Given the description of an element on the screen output the (x, y) to click on. 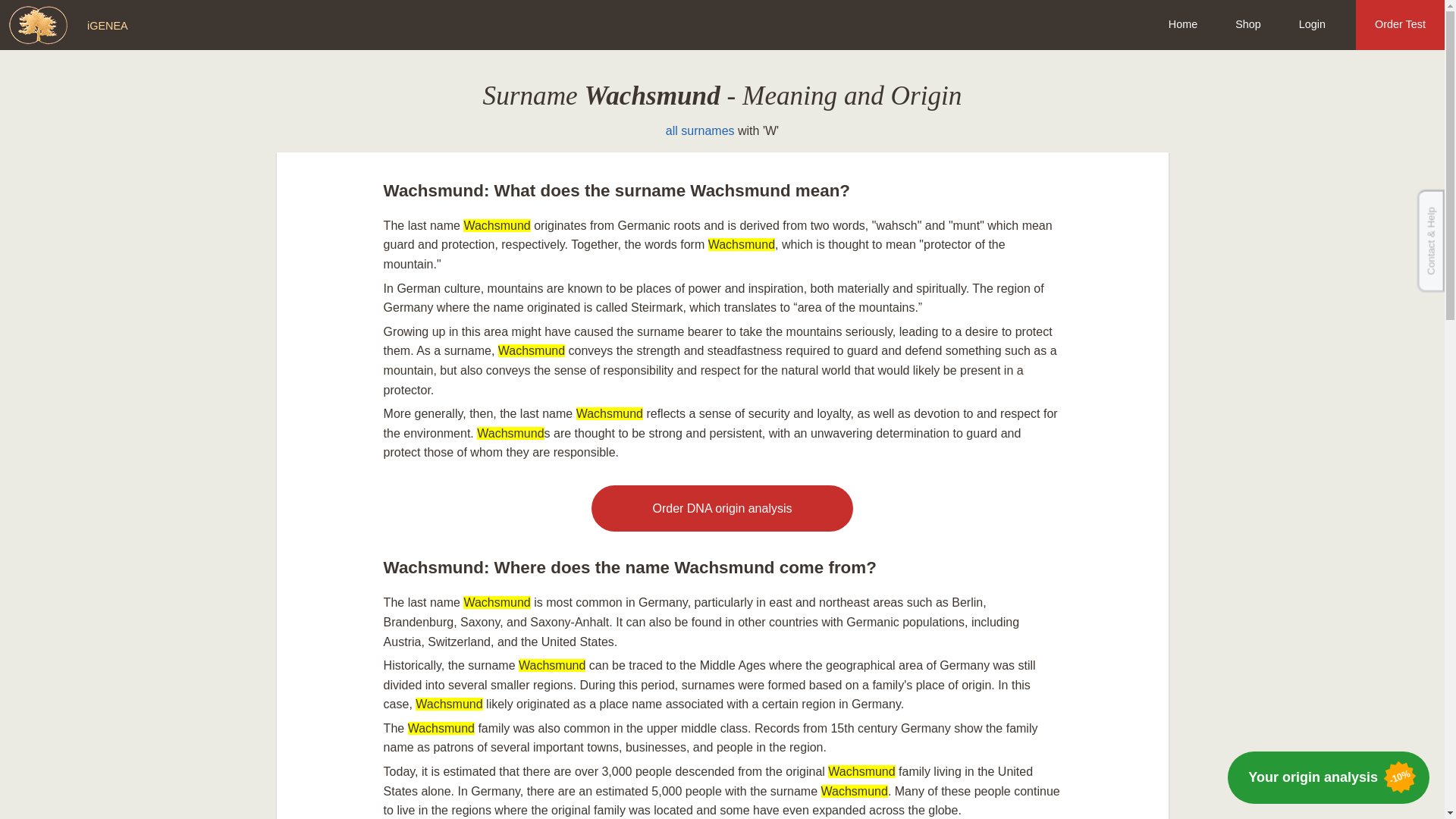
Home (1182, 24)
Shop (1247, 24)
Login (1311, 24)
Order DNA origin analysis (721, 508)
all surnames (700, 130)
Order test kit (721, 508)
